Given the description of an element on the screen output the (x, y) to click on. 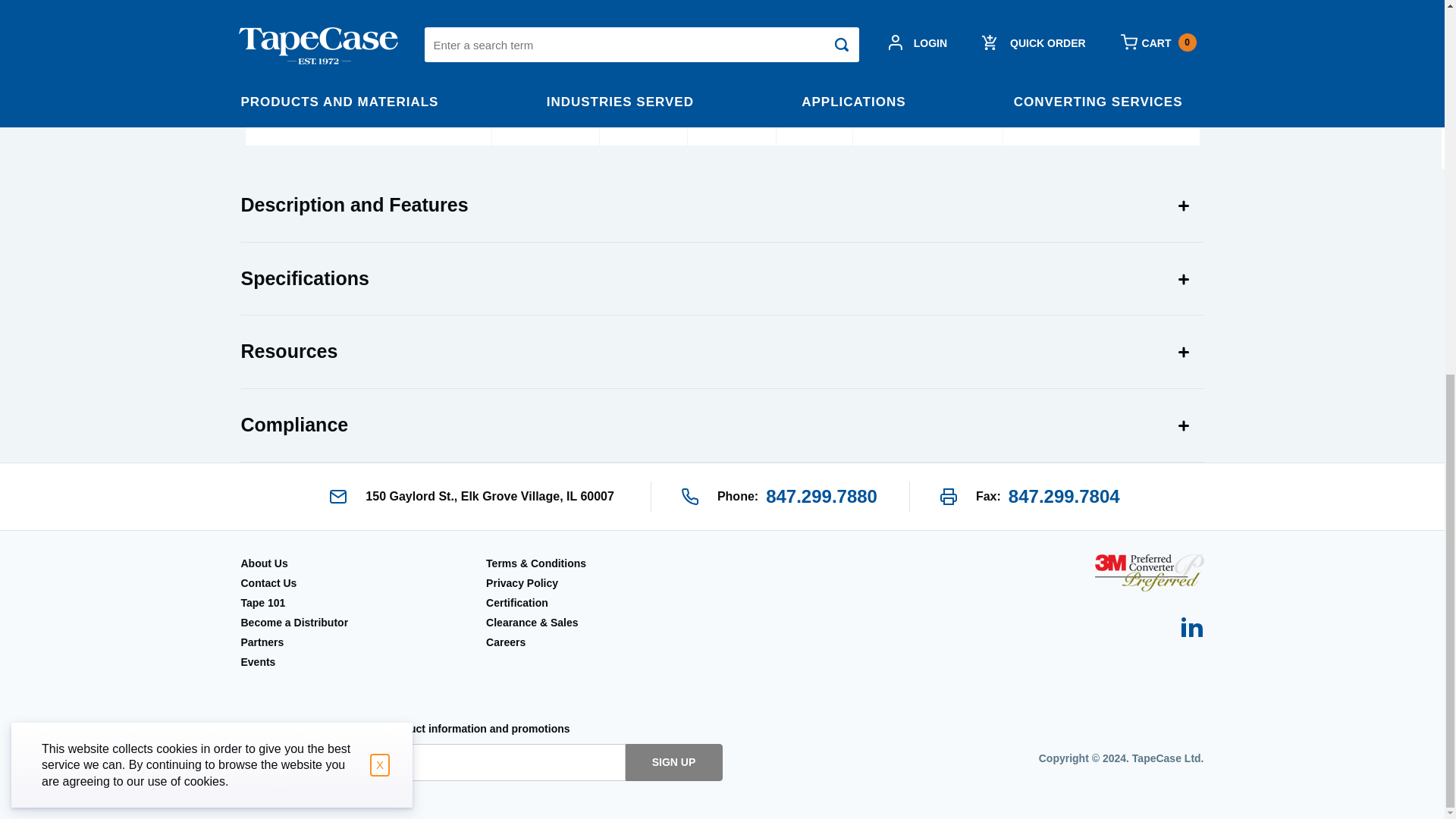
6 (1100, 35)
